Given the description of an element on the screen output the (x, y) to click on. 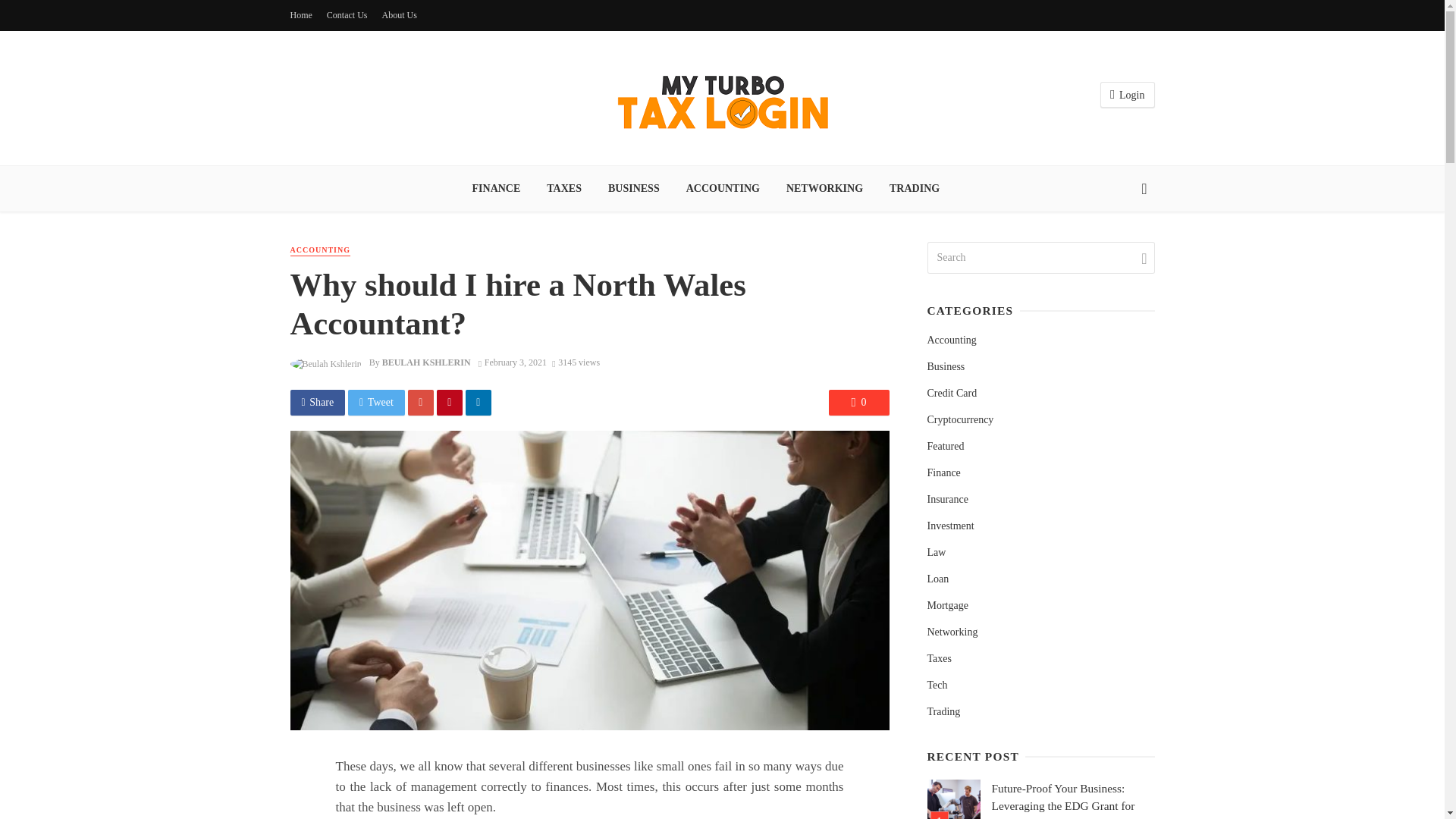
Contact Us (347, 14)
Share on Linkedin (478, 402)
FINANCE (496, 188)
Login (1127, 94)
0 (858, 402)
February 3, 2021 at 7:26 pm (513, 362)
TAXES (564, 188)
Tweet (375, 402)
NETWORKING (824, 188)
BEULAH KSHLERIN (425, 362)
